Given the description of an element on the screen output the (x, y) to click on. 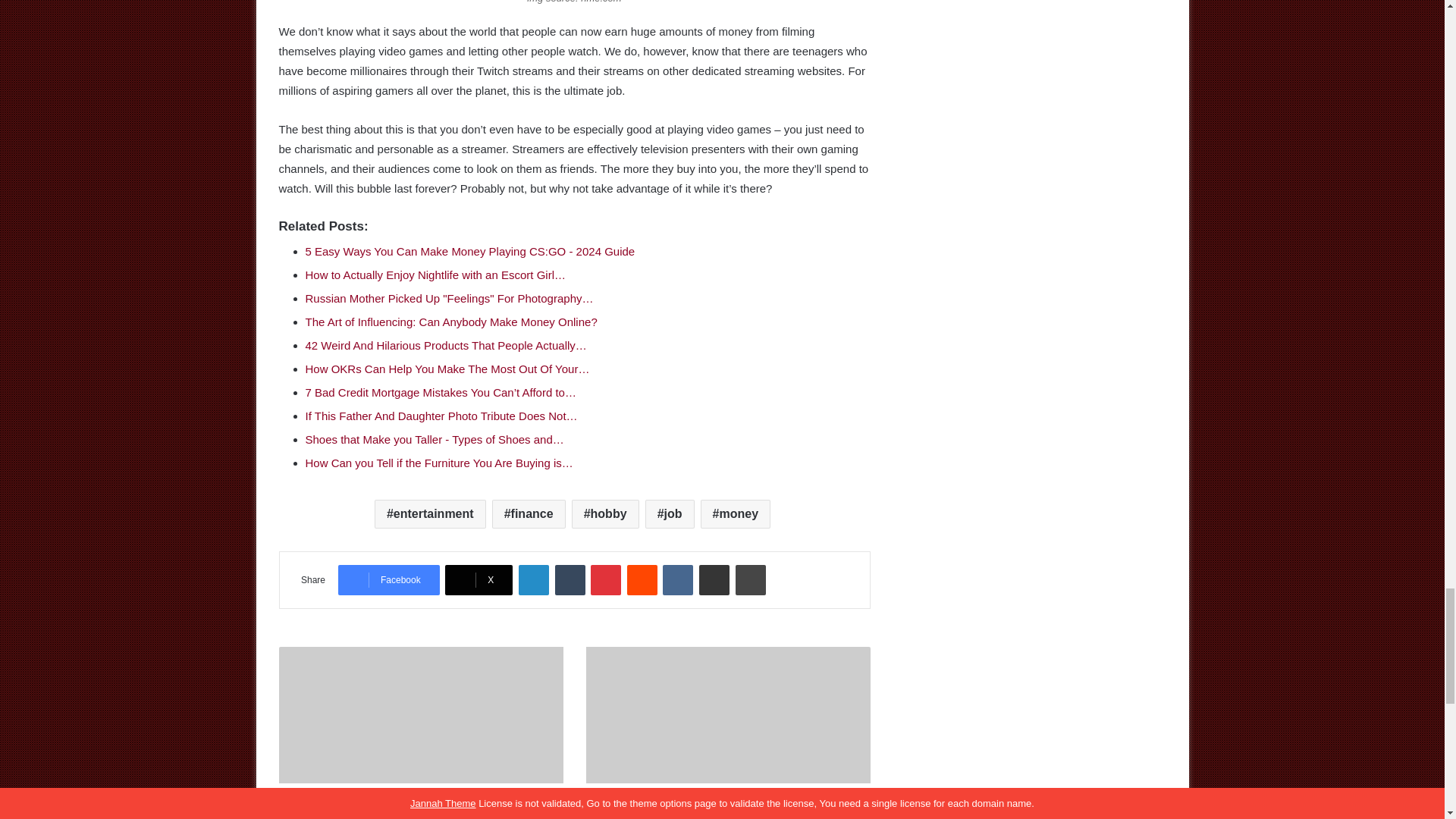
The Art of Influencing: Can Anybody Make Money Online? (450, 321)
Tumblr (569, 580)
Reddit (642, 580)
LinkedIn (533, 580)
finance (529, 513)
Share via Email (713, 580)
Facebook (388, 580)
entertainment (430, 513)
Print (750, 580)
Pinterest (606, 580)
